Given the description of an element on the screen output the (x, y) to click on. 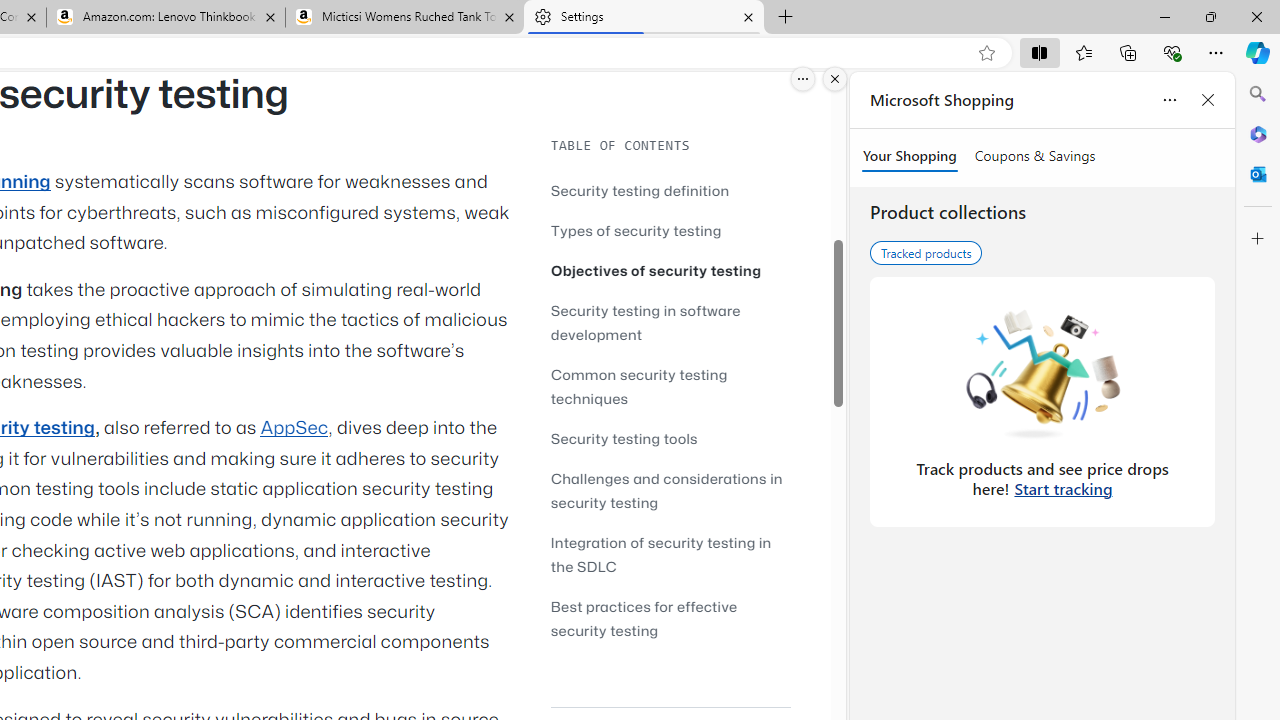
Security testing tools (670, 438)
Settings (643, 17)
Security testing in software development (670, 322)
Copilot (Ctrl+Shift+.) (1258, 52)
Security testing definition (639, 190)
Types of security testing (635, 230)
Objectives of security testing (655, 270)
Integration of security testing in the SDLC (660, 554)
Types of security testing (670, 230)
AppSec (293, 428)
Favorites (1083, 52)
Objectives of security testing (670, 269)
Search (1258, 94)
Common security testing techniques (670, 386)
